Given the description of an element on the screen output the (x, y) to click on. 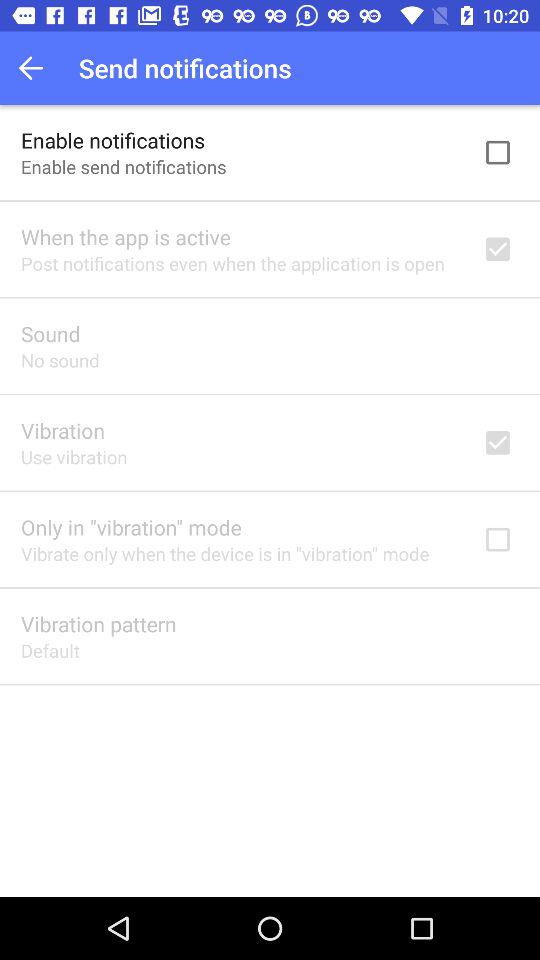
click the use vibration (74, 456)
